Given the description of an element on the screen output the (x, y) to click on. 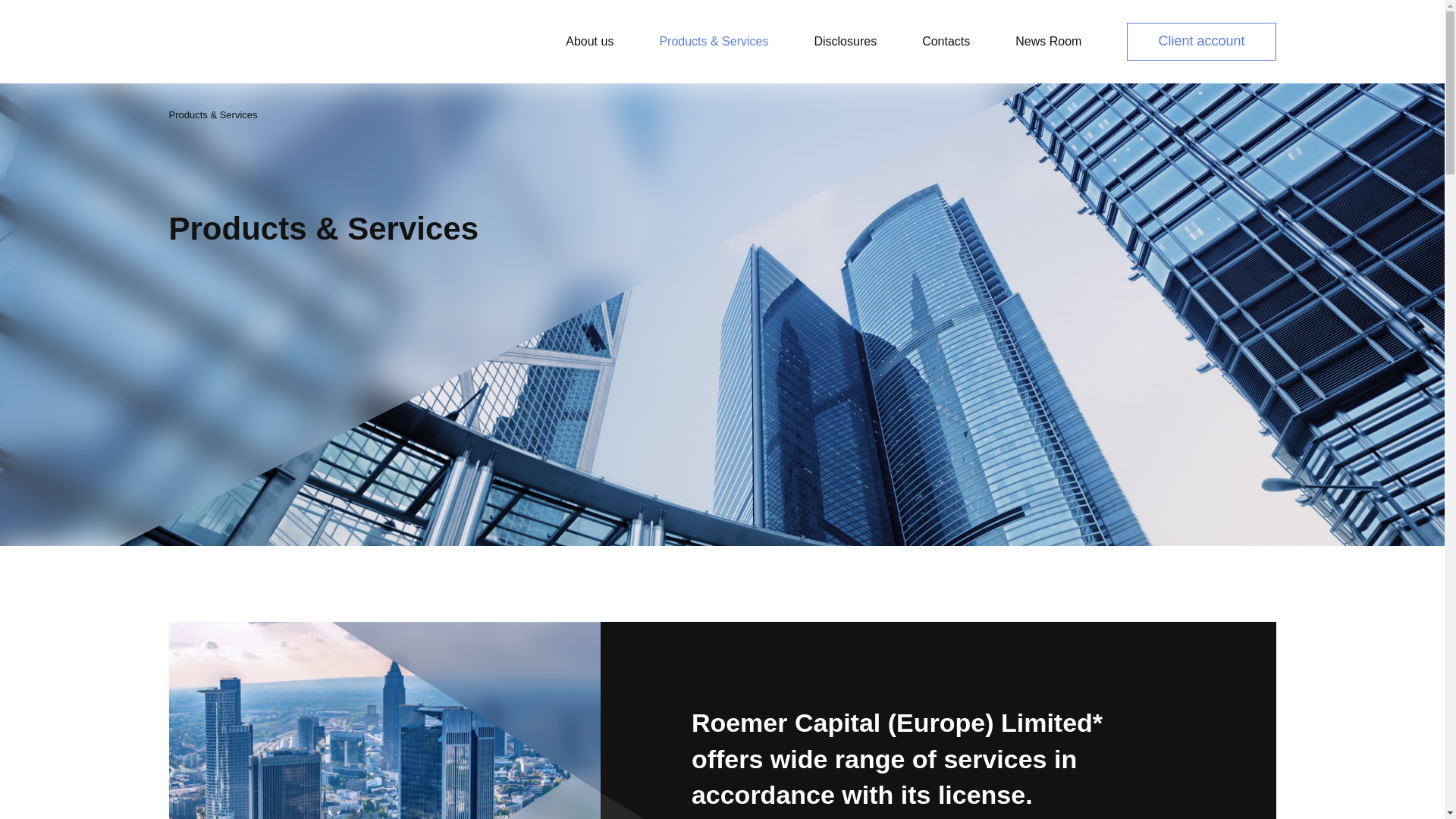
About us (589, 41)
Client account (1200, 41)
News Room (1047, 41)
Disclosures (844, 41)
Contacts (945, 41)
